Given the description of an element on the screen output the (x, y) to click on. 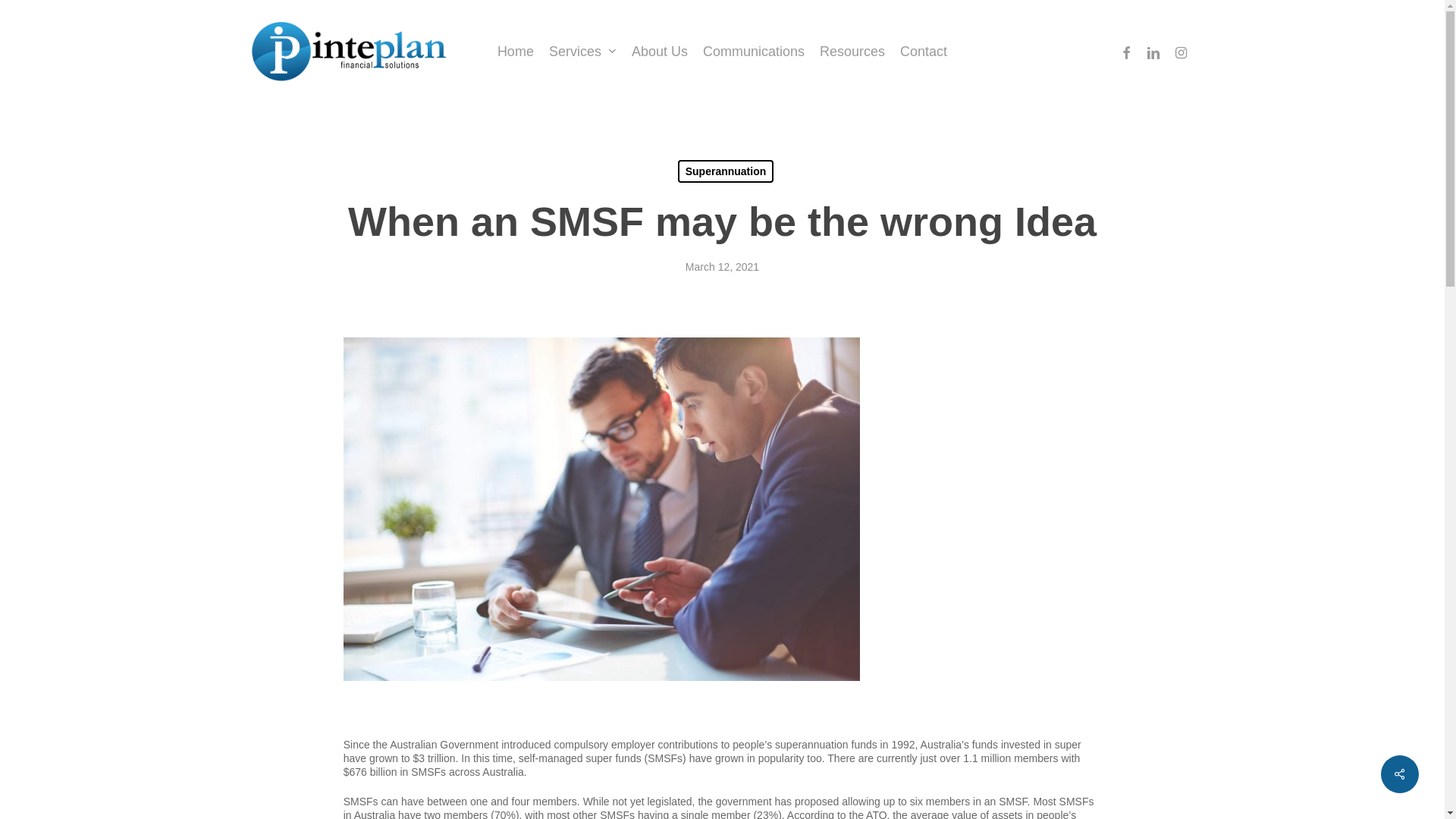
Communications Element type: text (753, 51)
Contact Element type: text (923, 51)
Home Element type: text (515, 51)
About Us Element type: text (659, 51)
linkedin Element type: text (1153, 50)
instagram Element type: text (1180, 50)
facebook Element type: text (1125, 50)
Superannuation Element type: text (725, 171)
Services Element type: text (582, 51)
Resources Element type: text (852, 51)
